Given the description of an element on the screen output the (x, y) to click on. 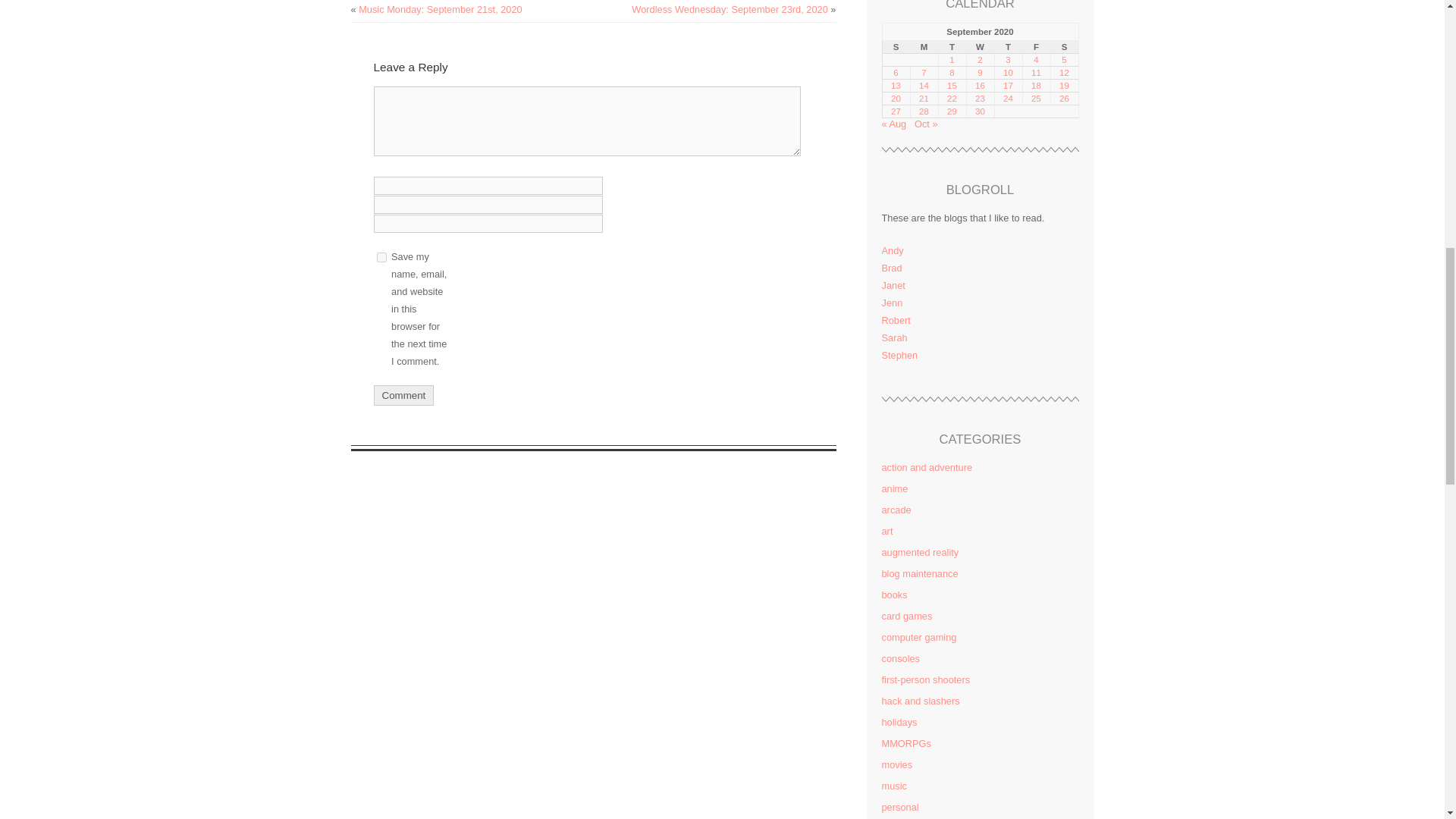
Comment (402, 394)
11 (1035, 71)
yes (380, 257)
16 (980, 85)
19 (1063, 85)
Wednesday (980, 46)
Wordless Wednesday: September 23rd, 2020 (729, 9)
Thursday (1008, 46)
18 (1035, 85)
10 (1008, 71)
